Given the description of an element on the screen output the (x, y) to click on. 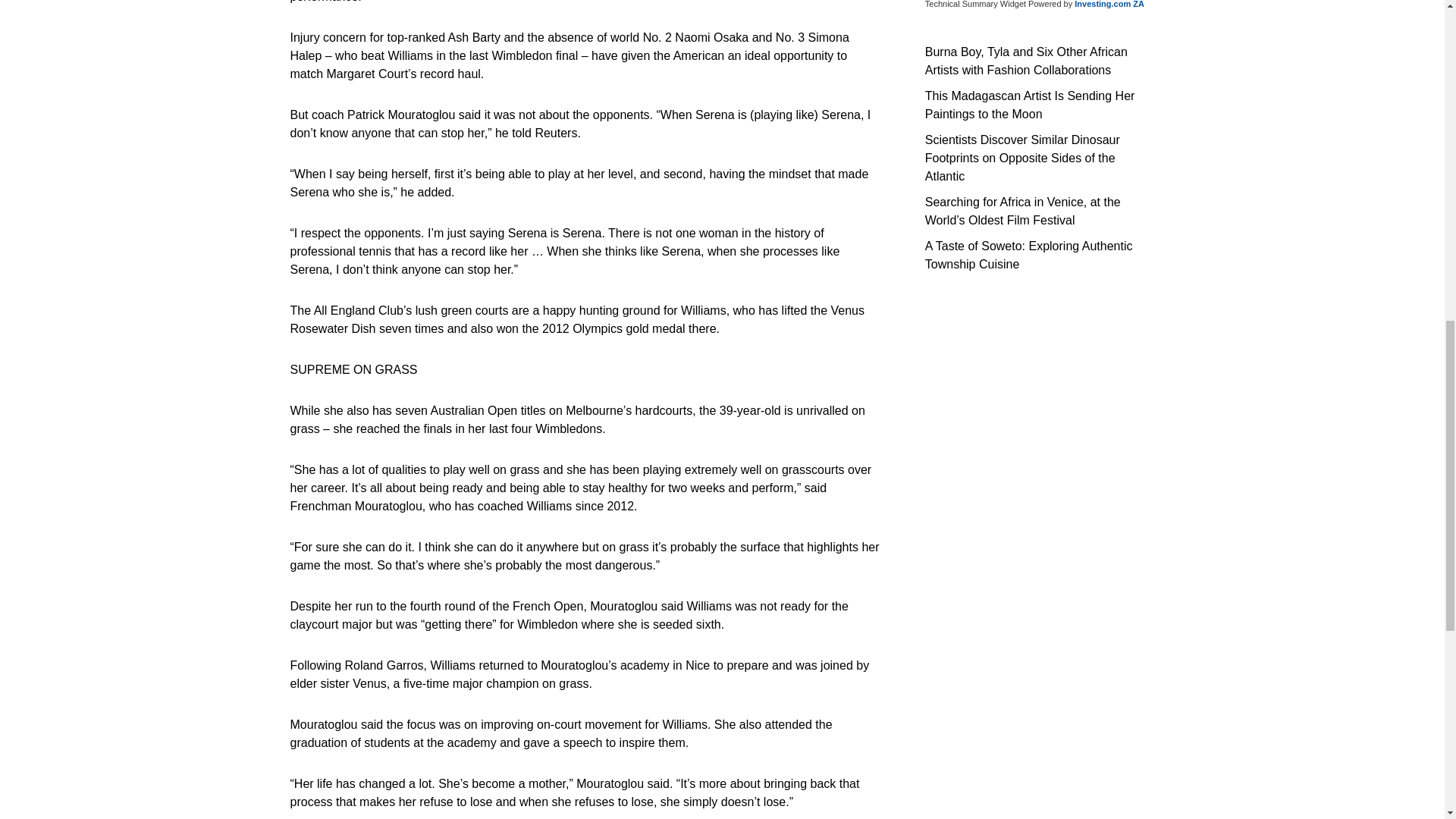
Investing.com ZA (1109, 4)
